Given the description of an element on the screen output the (x, y) to click on. 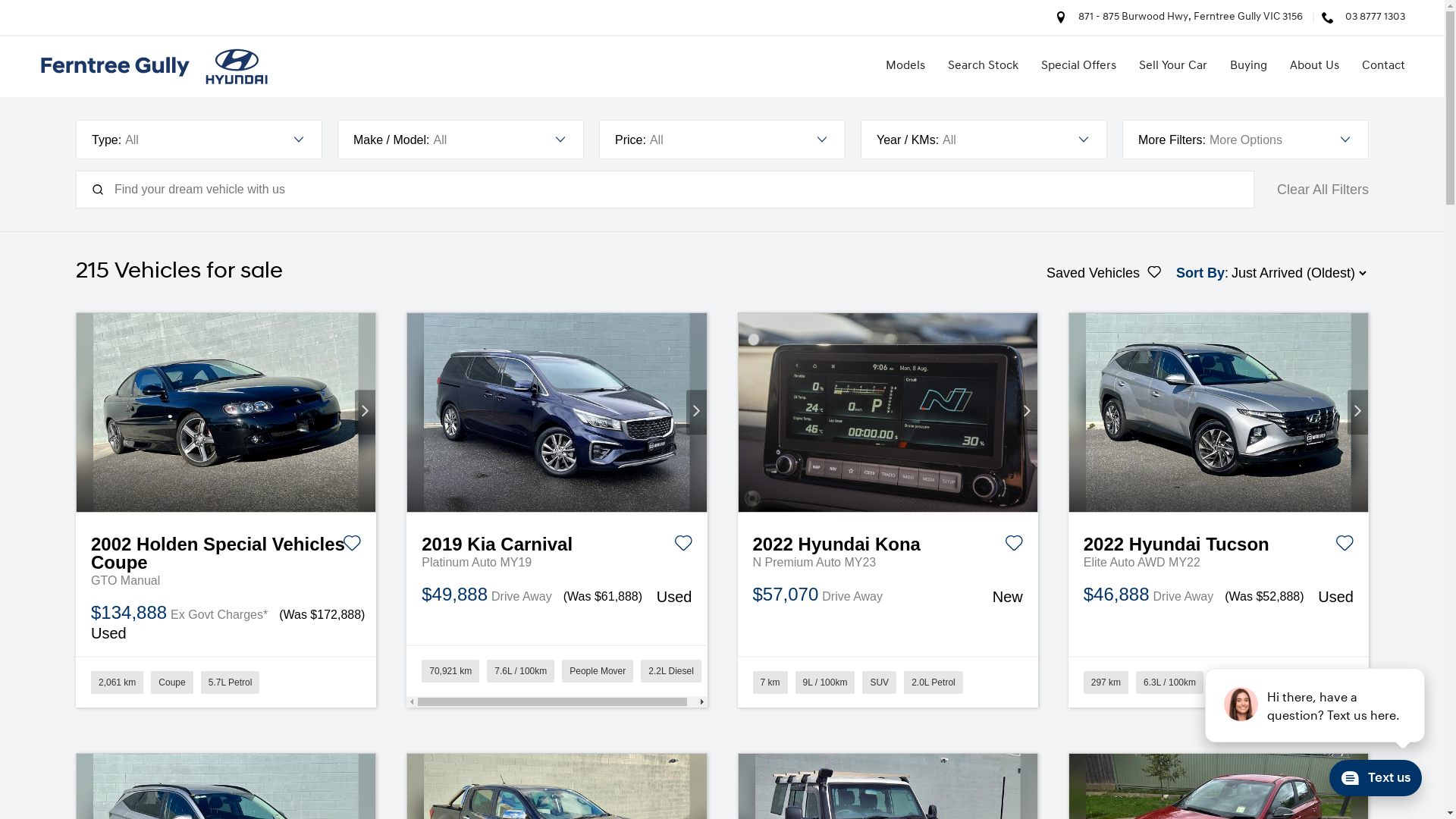
About Us Element type: text (1310, 66)
$46,888
Drive Away
(Was $52,888)
Used Element type: text (1218, 595)
Save Vehicle Element type: hover (1344, 545)
Search Stock Element type: text (979, 66)
70,921 km
7.6L / 100km
People Mover
2.2L Diesel Element type: text (556, 675)
Save Vehicle Element type: hover (682, 545)
2,061 km
Coupe
5.7L Petrol Element type: text (225, 681)
871 - 875 Burwood Hwy, Ferntree Gully VIC 3156 Element type: text (1196, 17)
2019 Kia Carnival Platinum Auto MY19 Element type: hover (556, 412)
Sell Your Car Element type: text (1168, 66)
$57,070
Drive Away
New Element type: text (887, 595)
2002 Holden Special Vehicles Coupe GTO Manual Element type: hover (225, 412)
Save Vehicle Element type: hover (351, 545)
297 km
6.3L / 100km
SUV
2.0L Diesel Element type: text (1218, 681)
$49,888
Drive Away
(Was $61,888)
Used Element type: text (556, 595)
Save Vehicle Element type: hover (1013, 545)
Saved Vehicles Element type: text (1103, 272)
7 km
9L / 100km
SUV
2.0L Petrol Element type: text (887, 681)
03 8777 1303 Element type: text (1375, 17)
2019 Kia Carnival
Platinum Auto MY19 Element type: text (556, 541)
2022 Hyundai Tucson
Elite Auto AWD MY22 Element type: text (1218, 541)
Special Offers Element type: text (1074, 66)
Clear All Filters Element type: text (1322, 189)
Models Element type: text (901, 66)
Contact Element type: text (1375, 66)
Buying Element type: text (1244, 66)
2022 Hyundai Kona
N Premium Auto MY23 Element type: text (887, 541)
2022 Hyundai Tucson Elite Auto AWD MY22 Element type: hover (1218, 412)
2022 Hyundai Kona N Premium Auto MY23 Element type: hover (887, 411)
$134,888
Ex Govt Charges*
(Was $172,888)
Used Element type: text (225, 622)
podium webchat widget prompt Element type: hover (1315, 705)
2002 Holden Special Vehicles Coupe
GTO Manual Element type: text (225, 550)
